Given the description of an element on the screen output the (x, y) to click on. 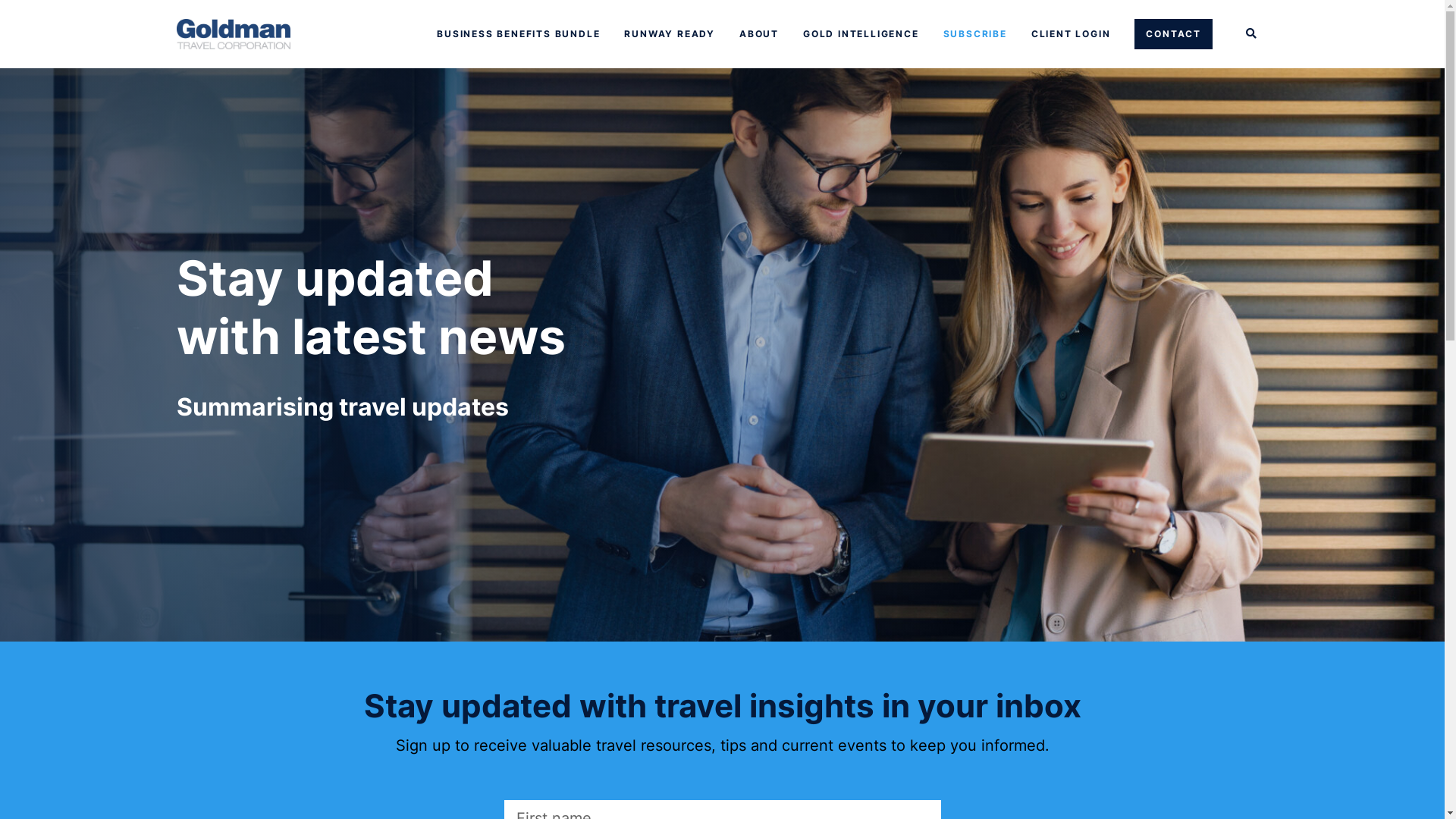
ABOUT Element type: text (758, 33)
CLIENT LOGIN Element type: text (1070, 33)
RUNWAY READY Element type: text (669, 33)
BUSINESS BENEFITS BUNDLE Element type: text (517, 33)
SUBSCRIBE Element type: text (975, 33)
CONTACT Element type: text (1173, 33)
GOLD INTELLIGENCE Element type: text (861, 33)
